Given the description of an element on the screen output the (x, y) to click on. 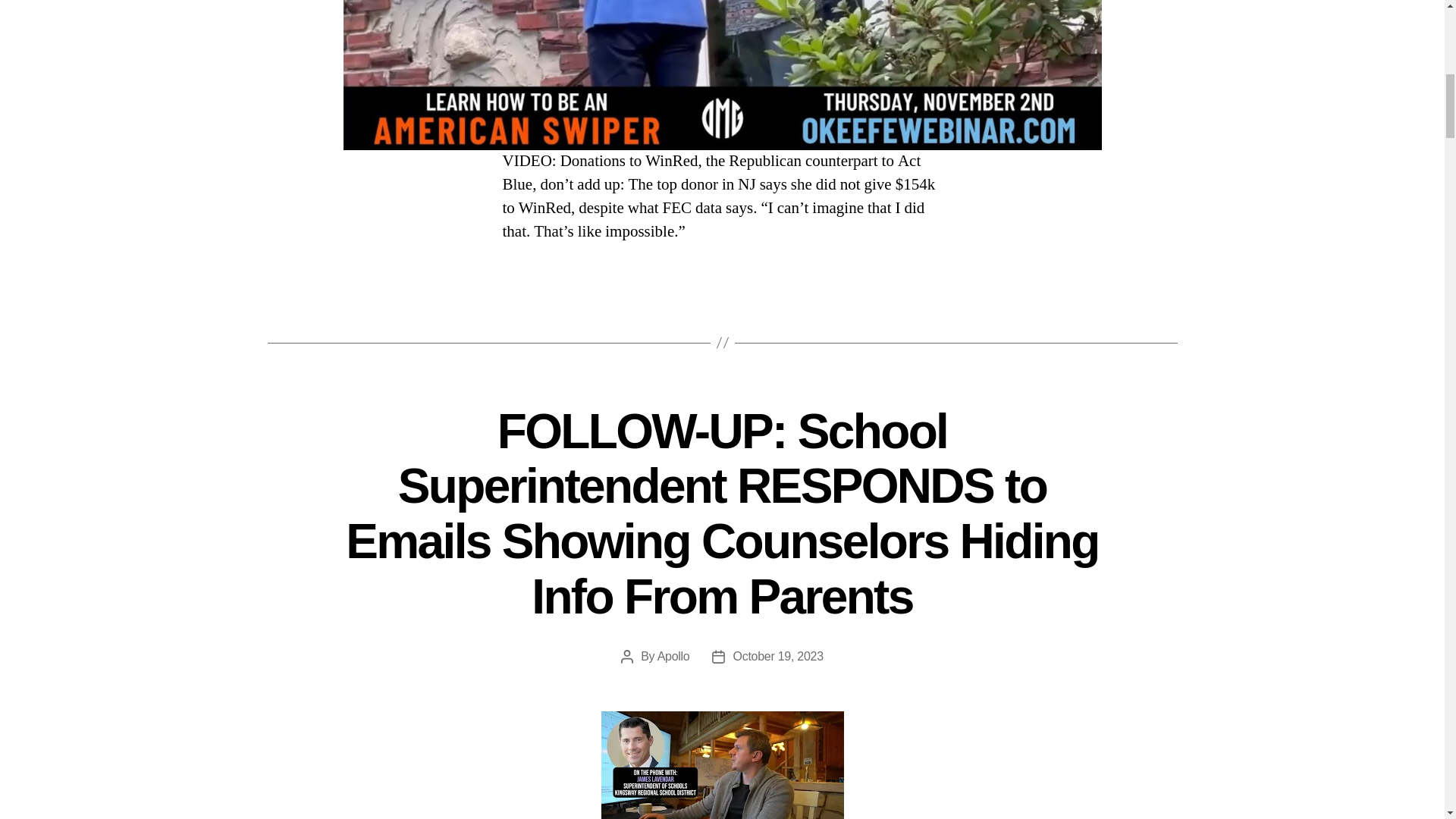
Apollo (674, 656)
October 19, 2023 (777, 656)
